Given the description of an element on the screen output the (x, y) to click on. 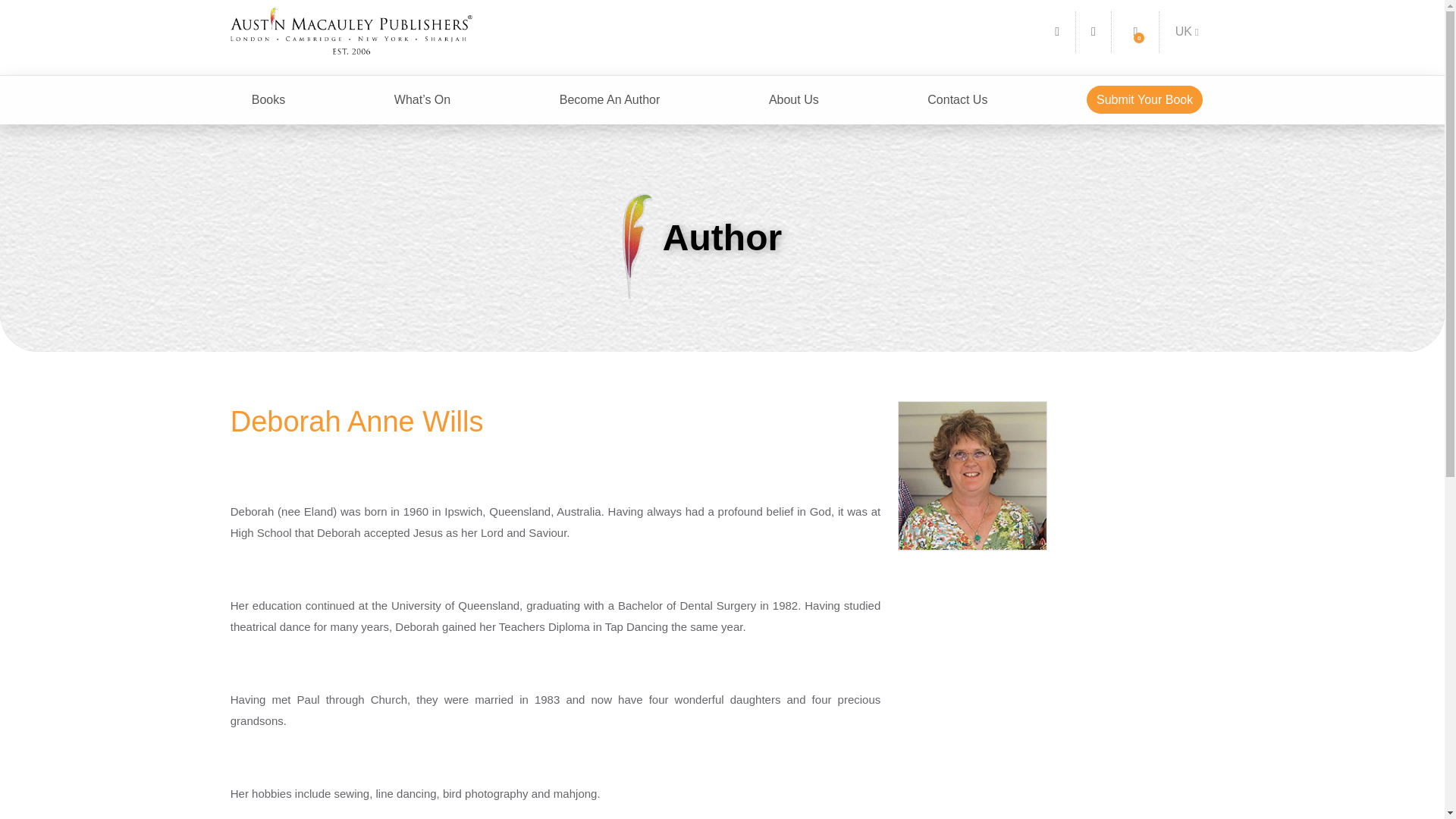
Branch (1187, 31)
Books (268, 99)
UK (1187, 31)
Deborah Anne Wills (973, 476)
